Given the description of an element on the screen output the (x, y) to click on. 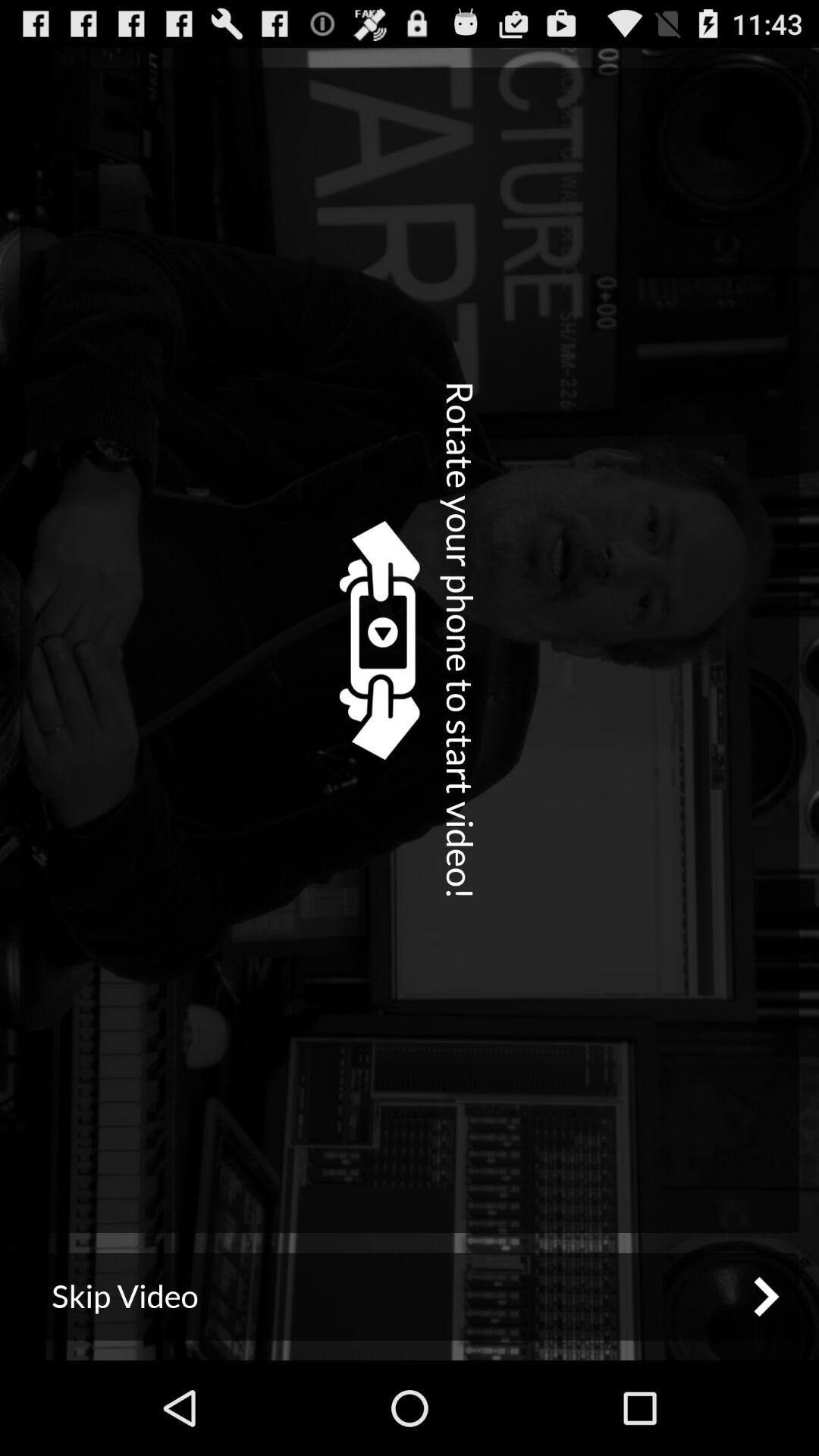
click icon at the bottom (409, 1296)
